Given the description of an element on the screen output the (x, y) to click on. 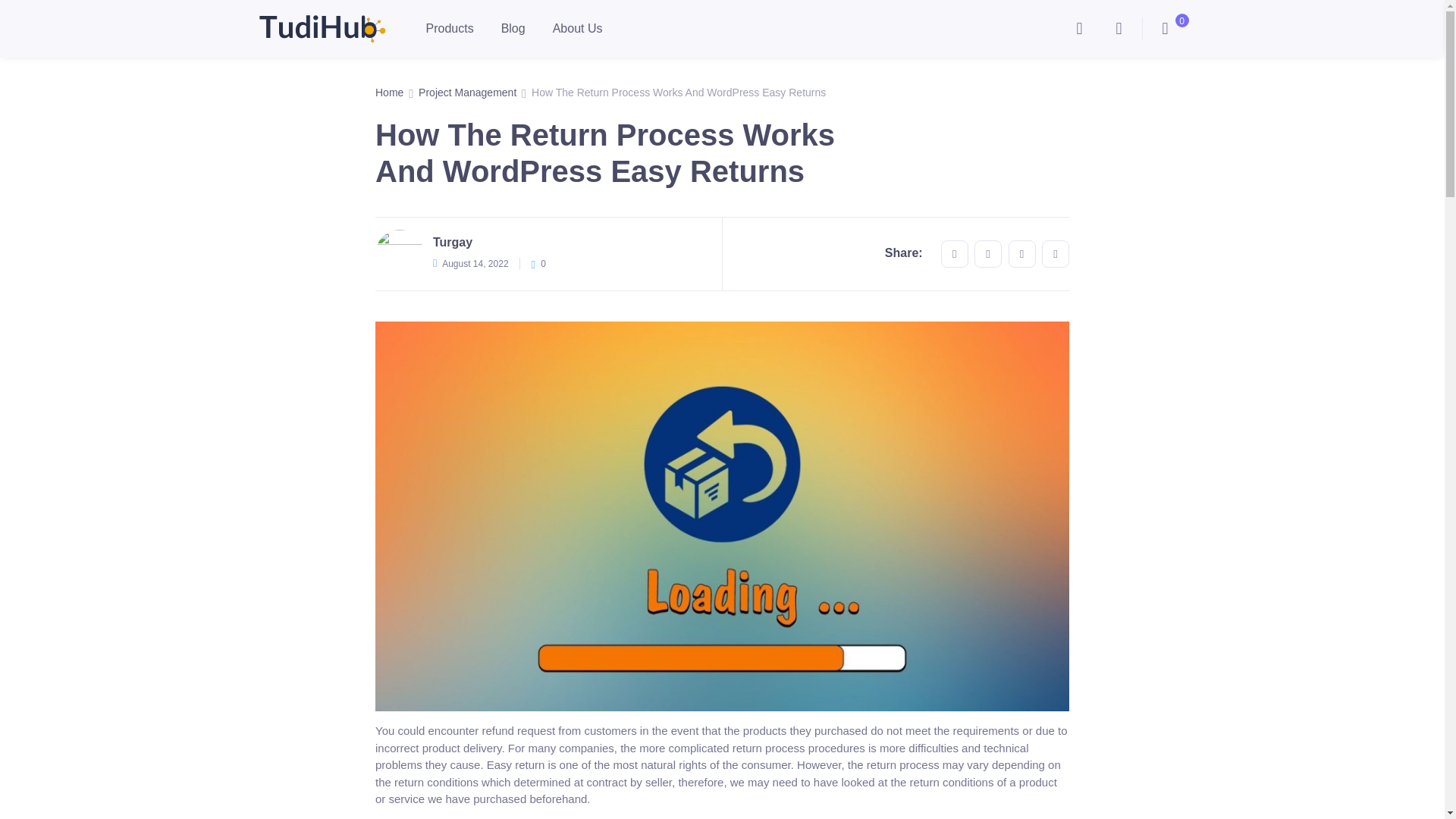
Blog (512, 28)
Blog (512, 28)
Share this on GMail (1022, 253)
Products (449, 28)
Products (449, 28)
0 (1164, 28)
Project Management (467, 96)
August 14, 2022 (475, 263)
 0 (538, 264)
About Us (576, 28)
Share this on FaceBook (954, 253)
Turgay (451, 241)
Share this on EMail (1055, 253)
Home (389, 96)
